Given the description of an element on the screen output the (x, y) to click on. 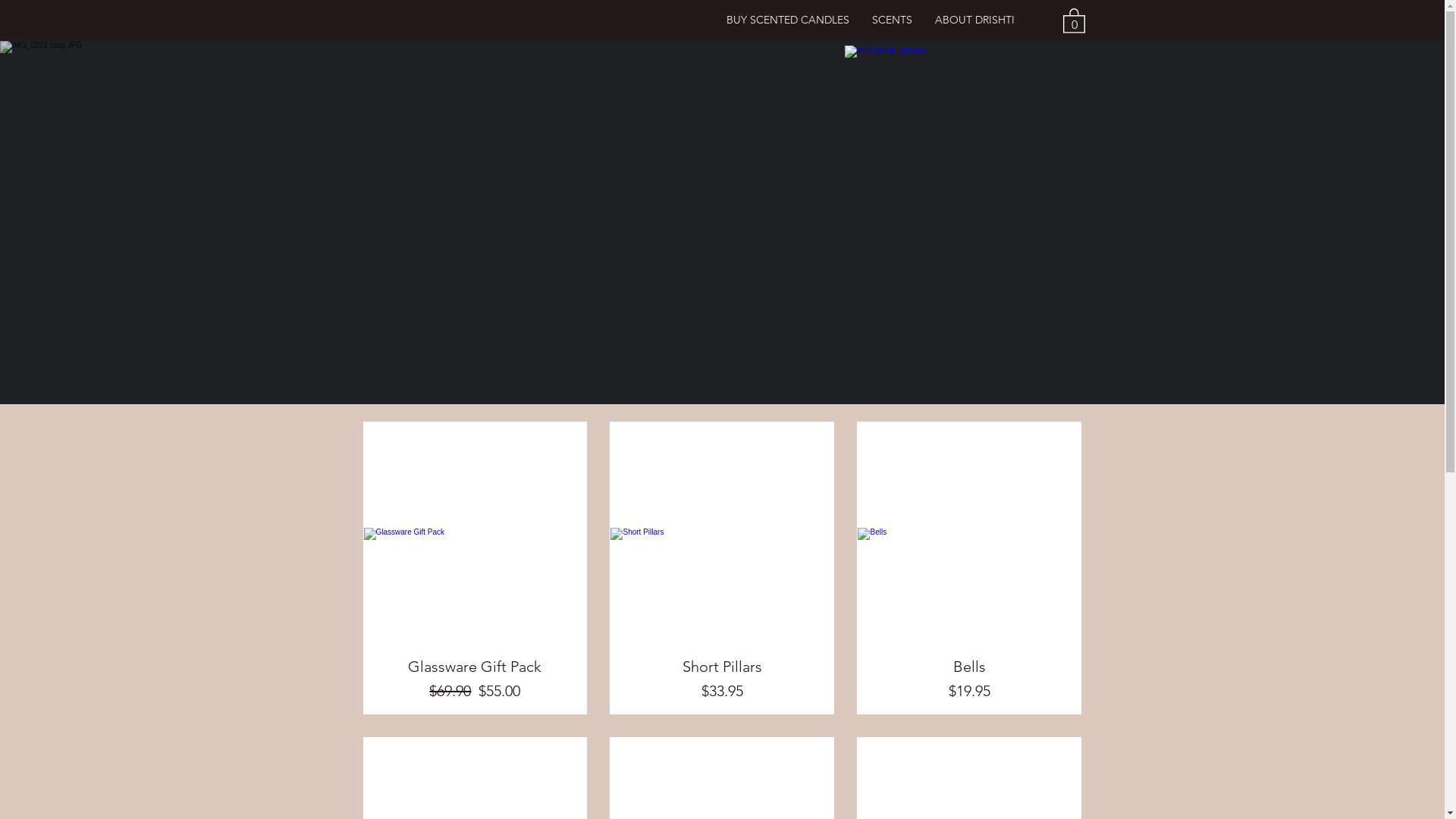
ABOUT DRISHTI Element type: text (974, 20)
SCENTS Element type: text (890, 20)
Short Pillars
Price
$33.95 Element type: text (721, 679)
Glassware Gift Pack
Regular Price
$69.90
Sale Price
$55.00 Element type: text (474, 679)
Bells
Price
$19.95 Element type: text (969, 679)
BUY SCENTED CANDLES Element type: text (786, 20)
0 Element type: text (1074, 19)
